Given the description of an element on the screen output the (x, y) to click on. 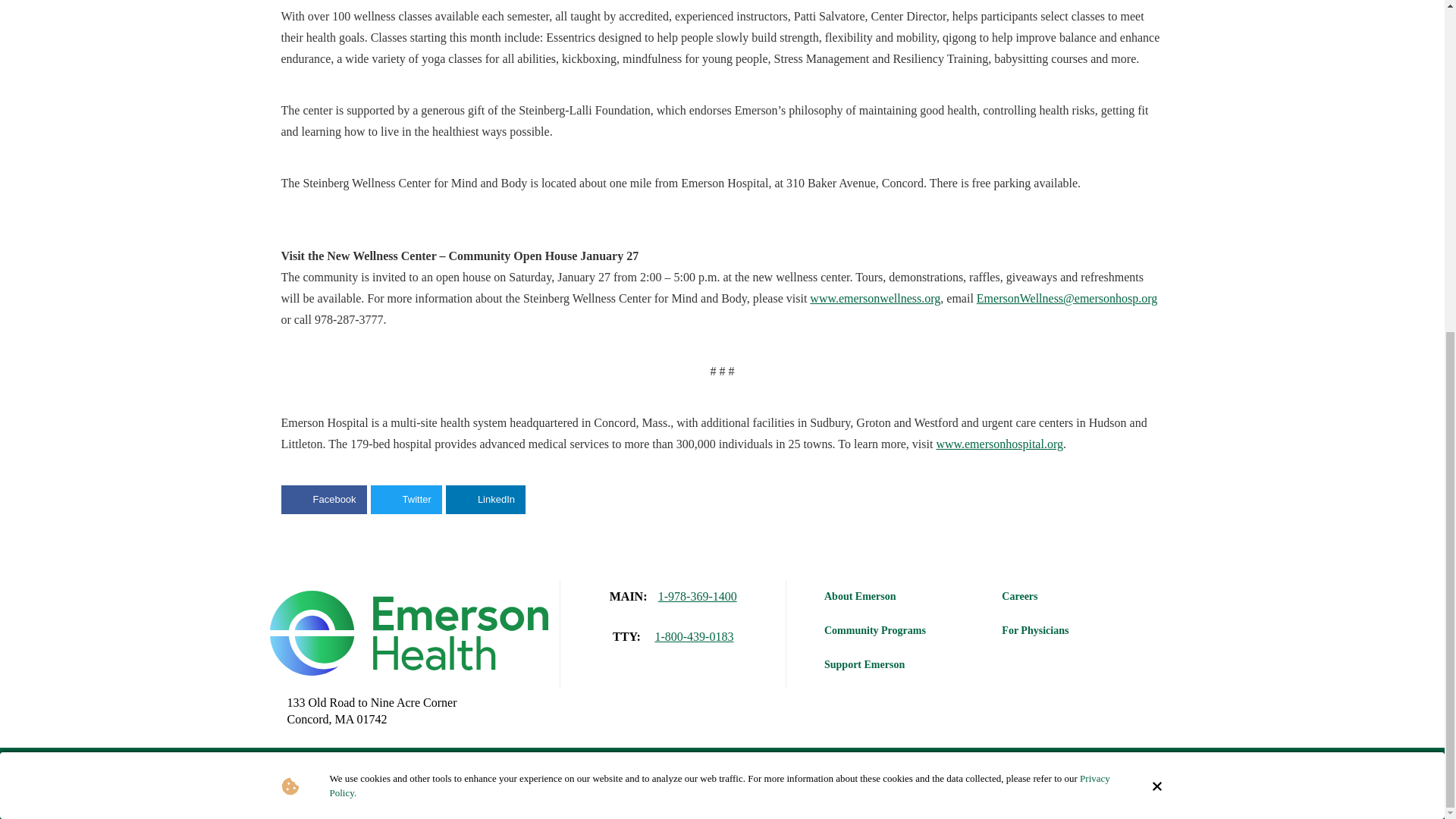
www.emersonwellness.org (874, 297)
Notice of Privacy Practices (820, 772)
Price Transparency (758, 783)
1-978-369-1400 (697, 596)
Privacy Policy. (719, 233)
Facebook (1003, 782)
Facebook (323, 500)
Disclaimer (712, 772)
LinkedIn (485, 500)
Instagram (1046, 782)
YouTube (1088, 782)
LinkedIn (1130, 782)
Privacy Policy (631, 772)
www.emersonhospital.org (999, 442)
1-800-439-0183 (693, 636)
